Given the description of an element on the screen output the (x, y) to click on. 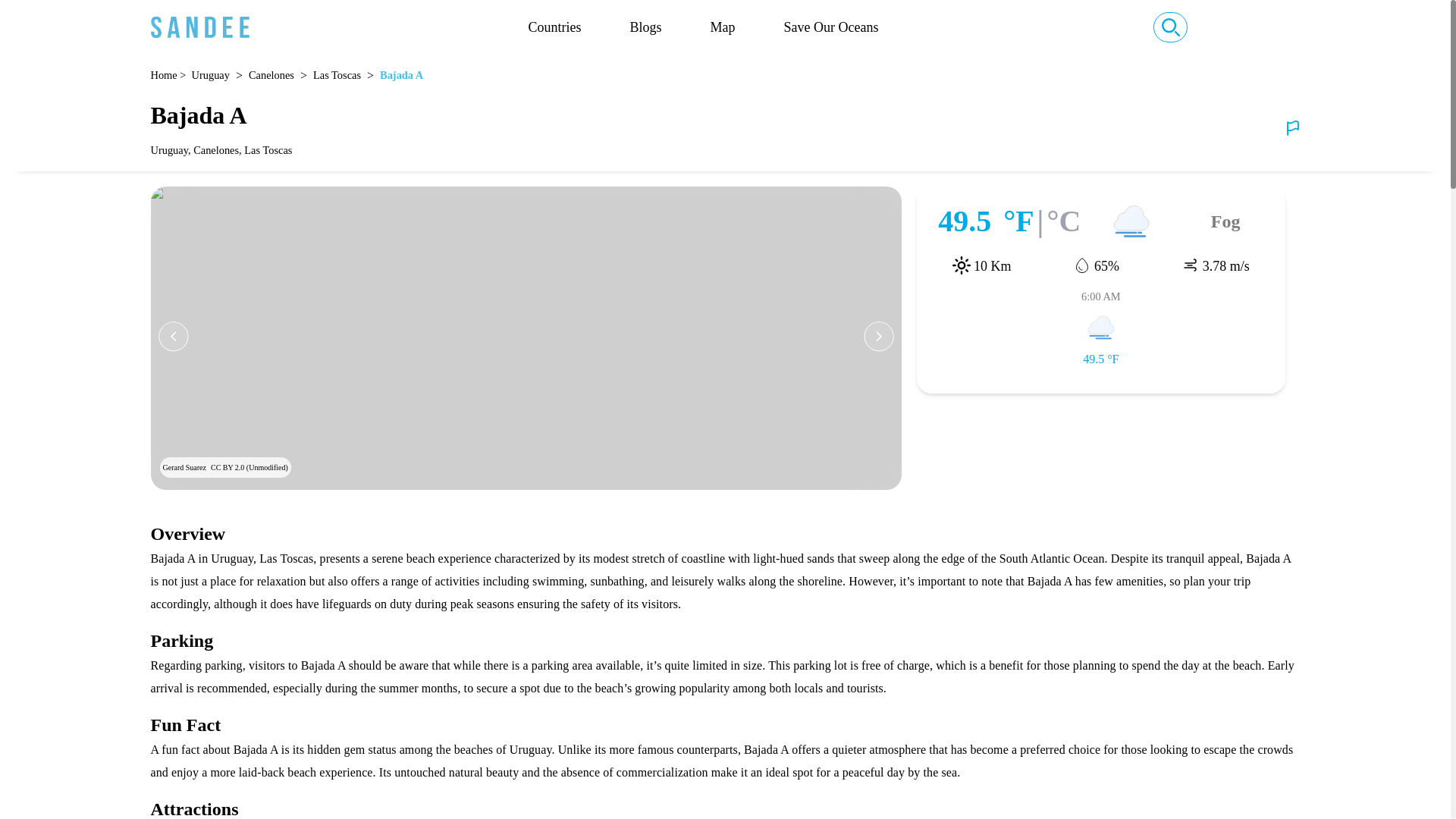
Canelones,  (218, 150)
Home (162, 75)
Countries (553, 27)
Countries (553, 27)
Las Toscas (337, 75)
Uruguay,  (171, 150)
Save Our Oceans (831, 27)
Uruguay (211, 75)
Las Toscas  (269, 150)
Save Our Oceans (831, 27)
Canelones (271, 75)
